Given the description of an element on the screen output the (x, y) to click on. 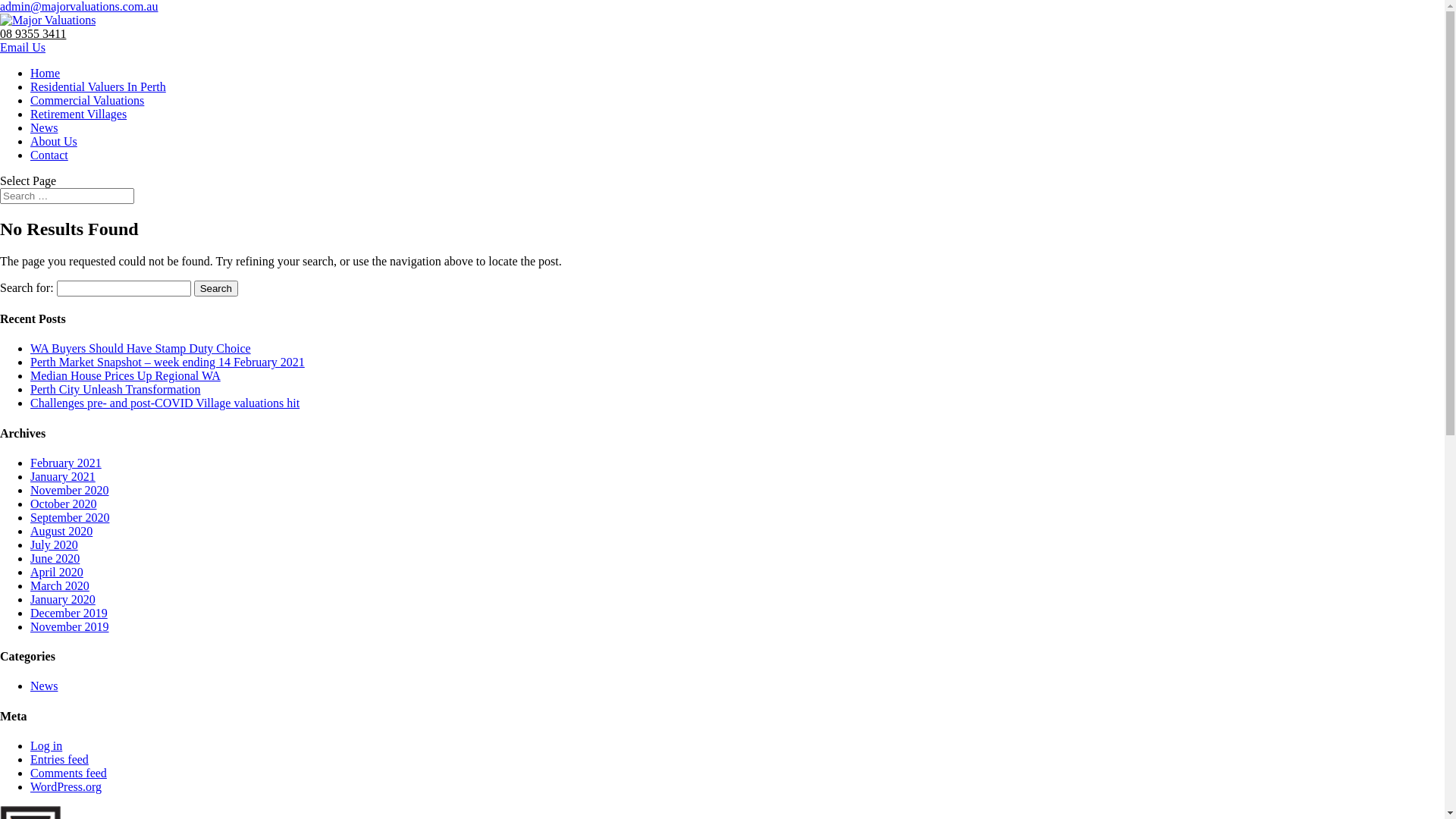
December 2019 Element type: text (68, 612)
Perth City Unleash Transformation Element type: text (115, 388)
June 2020 Element type: text (54, 558)
September 2020 Element type: text (69, 517)
November 2020 Element type: text (69, 489)
April 2020 Element type: text (56, 571)
Commercial Valuations Element type: text (87, 100)
News Element type: text (43, 127)
Retirement Villages Element type: text (78, 113)
Home Element type: text (44, 72)
08 9355 3411 Element type: text (32, 33)
WordPress.org Element type: text (65, 786)
Median House Prices Up Regional WA Element type: text (125, 375)
February 2021 Element type: text (65, 462)
Challenges pre- and post-COVID Village valuations hit Element type: text (164, 402)
Entries feed Element type: text (59, 759)
About Us Element type: text (53, 140)
January 2020 Element type: text (62, 599)
Search Element type: text (216, 288)
November 2019 Element type: text (69, 626)
admin@majorvaluations.com.au Element type: text (78, 6)
January 2021 Element type: text (62, 476)
Comments feed Element type: text (68, 772)
News Element type: text (43, 685)
Search for: Element type: hover (67, 195)
Residential Valuers In Perth Element type: text (98, 86)
Email Us Element type: text (22, 46)
WA Buyers Should Have Stamp Duty Choice Element type: text (140, 348)
August 2020 Element type: text (61, 530)
March 2020 Element type: text (59, 585)
July 2020 Element type: text (54, 544)
Log in Element type: text (46, 745)
October 2020 Element type: text (63, 503)
Contact Element type: text (49, 154)
